Given the description of an element on the screen output the (x, y) to click on. 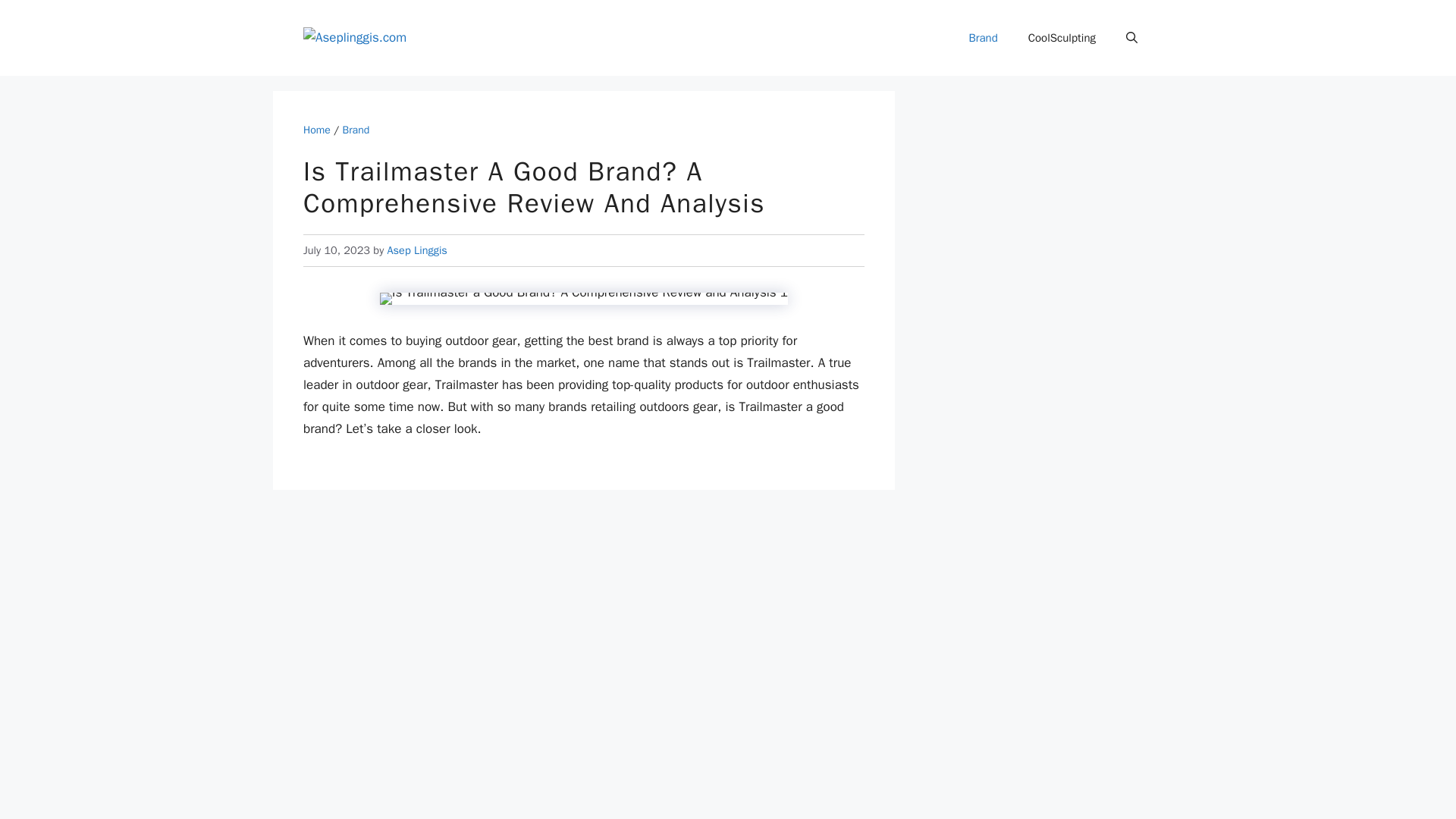
Home (316, 129)
View all posts by Asep Linggis (416, 250)
Brand (982, 37)
Asep Linggis (416, 250)
Brand (355, 129)
CoolSculpting (1061, 37)
